Given the description of an element on the screen output the (x, y) to click on. 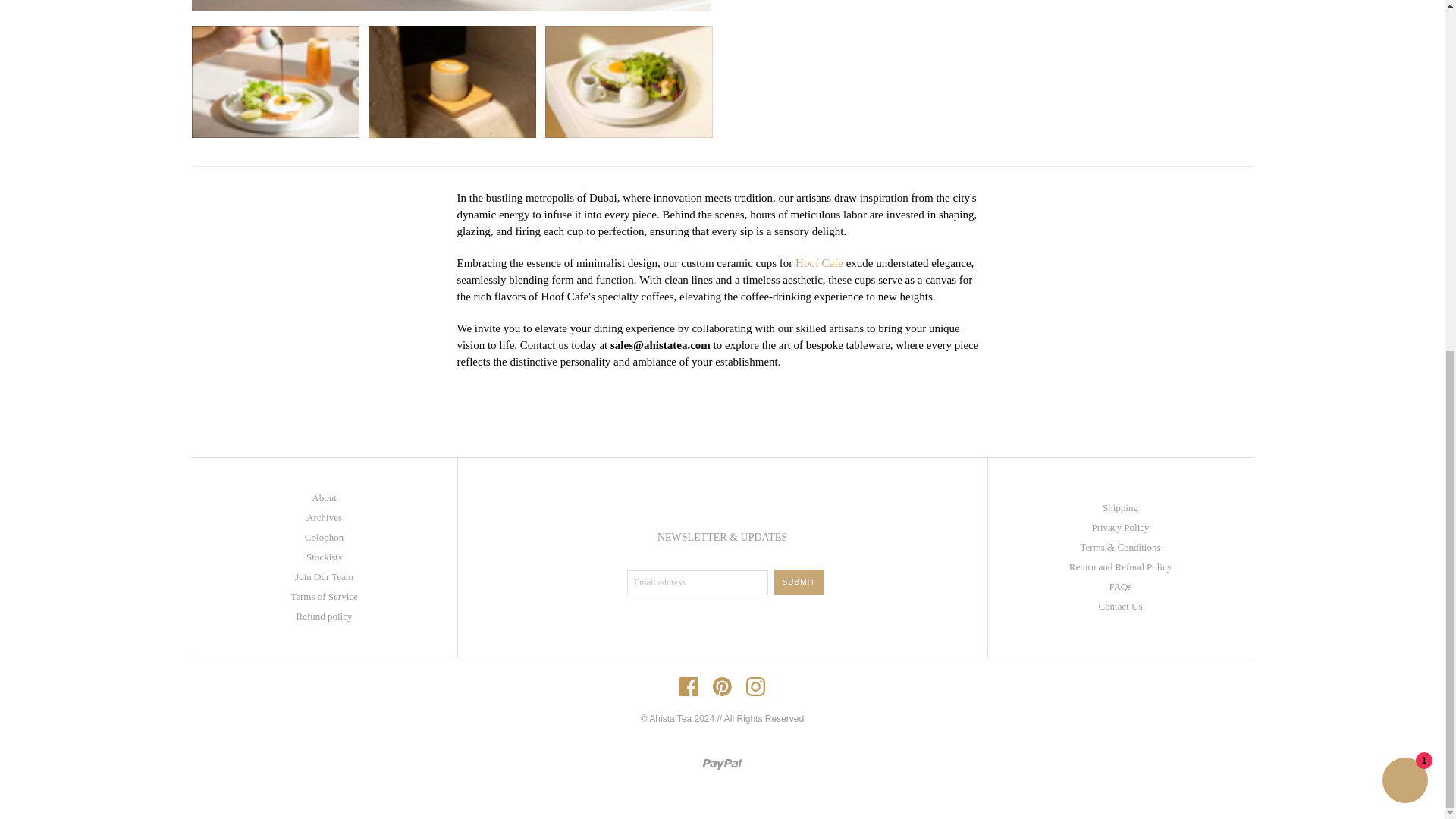
Refund policy (323, 615)
Stockists (323, 556)
Archives (323, 517)
Privacy Policy (1119, 527)
Colophon (323, 536)
Join Our Team (324, 576)
Terms of Service (323, 595)
Hoof Cafe (818, 263)
Submit (799, 581)
Submit (799, 581)
Shopify online store chat (1404, 171)
Shipping (1120, 507)
About (323, 497)
